Given the description of an element on the screen output the (x, y) to click on. 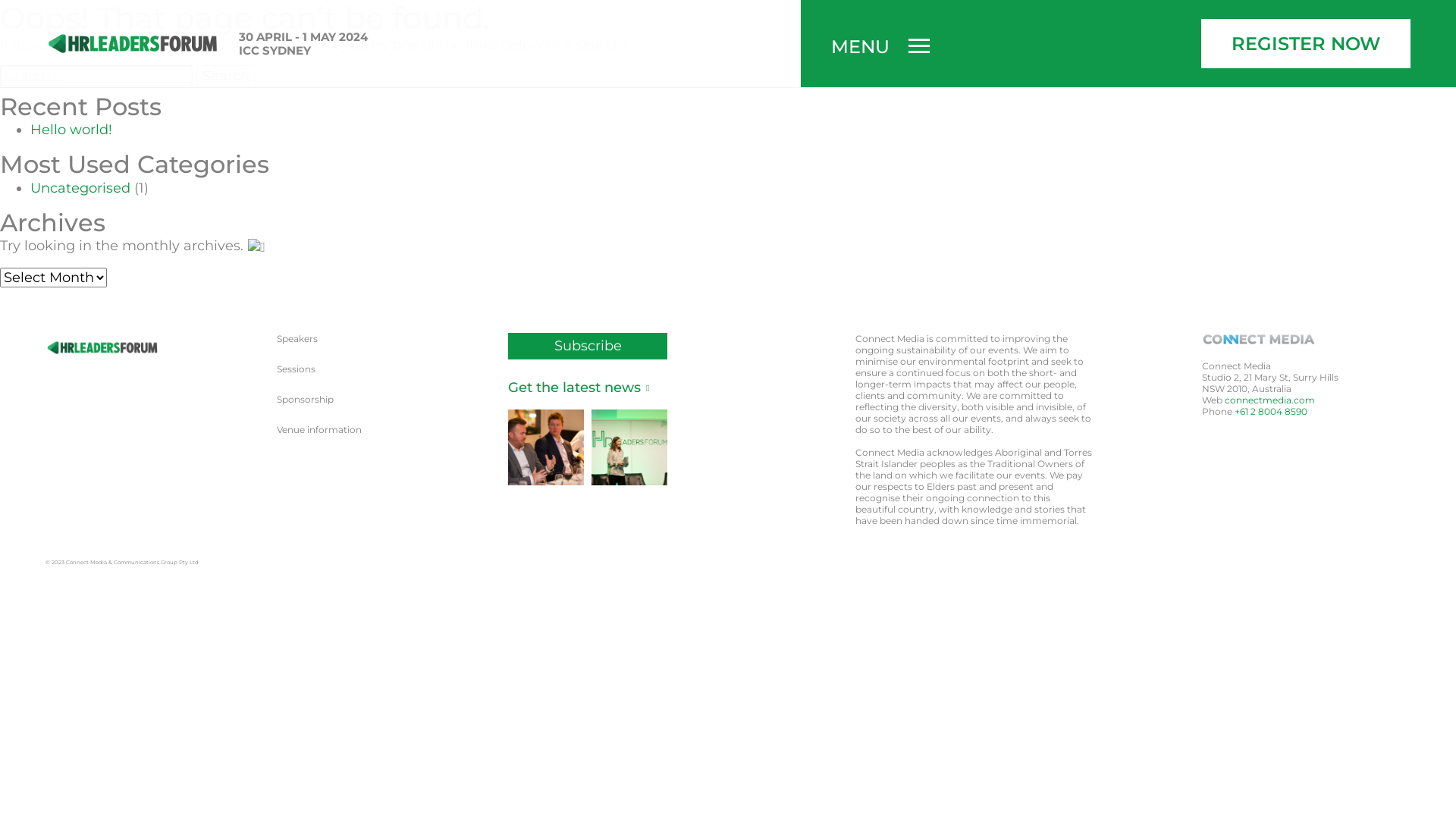
Search Element type: text (225, 75)
Sponsorship Element type: text (304, 398)
Venue information Element type: text (318, 429)
Subscribe Element type: text (587, 345)
Uncategorised Element type: text (80, 187)
connectmedia.com Element type: text (1269, 399)
Sessions Element type: text (295, 368)
Hello world! Element type: text (71, 129)
+61 2 8004 8590 Element type: text (1270, 411)
Speakers Element type: text (296, 338)
Get the latest news Element type: text (577, 388)
REGISTER NOW Element type: text (1305, 43)
